Given the description of an element on the screen output the (x, y) to click on. 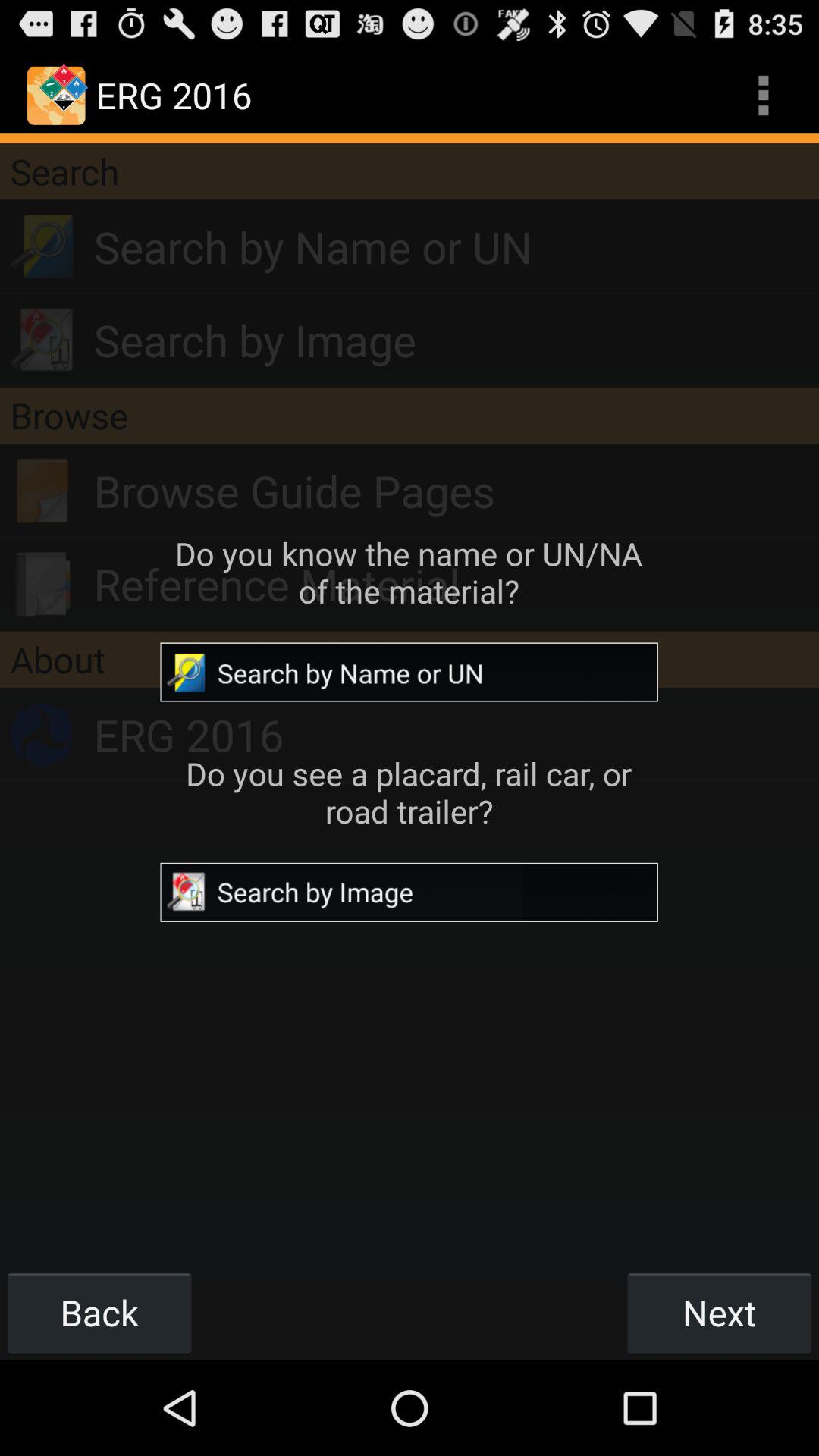
select the app above erg 2016 (409, 659)
